Given the description of an element on the screen output the (x, y) to click on. 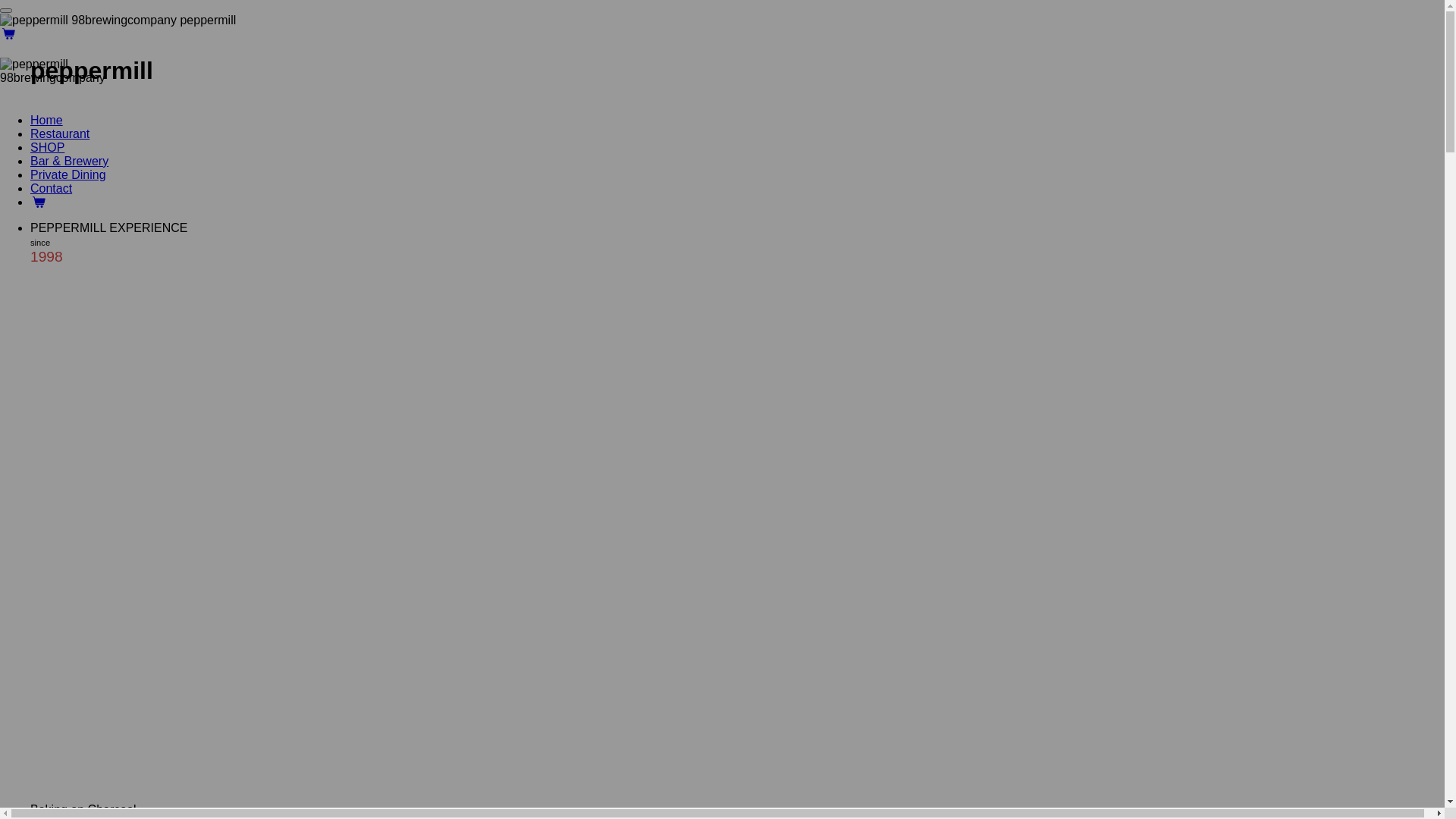
Winkelwagen Element type: hover (38, 201)
Home Element type: text (46, 119)
SHOP Element type: text (47, 147)
Contact Element type: text (51, 188)
peppermill 98brewingcompany Element type: hover (52, 70)
Restaurant Element type: text (59, 133)
Bar & Brewery Element type: text (69, 160)
Private Dining Element type: text (68, 174)
peppermill 98brewingcompany Element type: hover (88, 20)
